Given the description of an element on the screen output the (x, y) to click on. 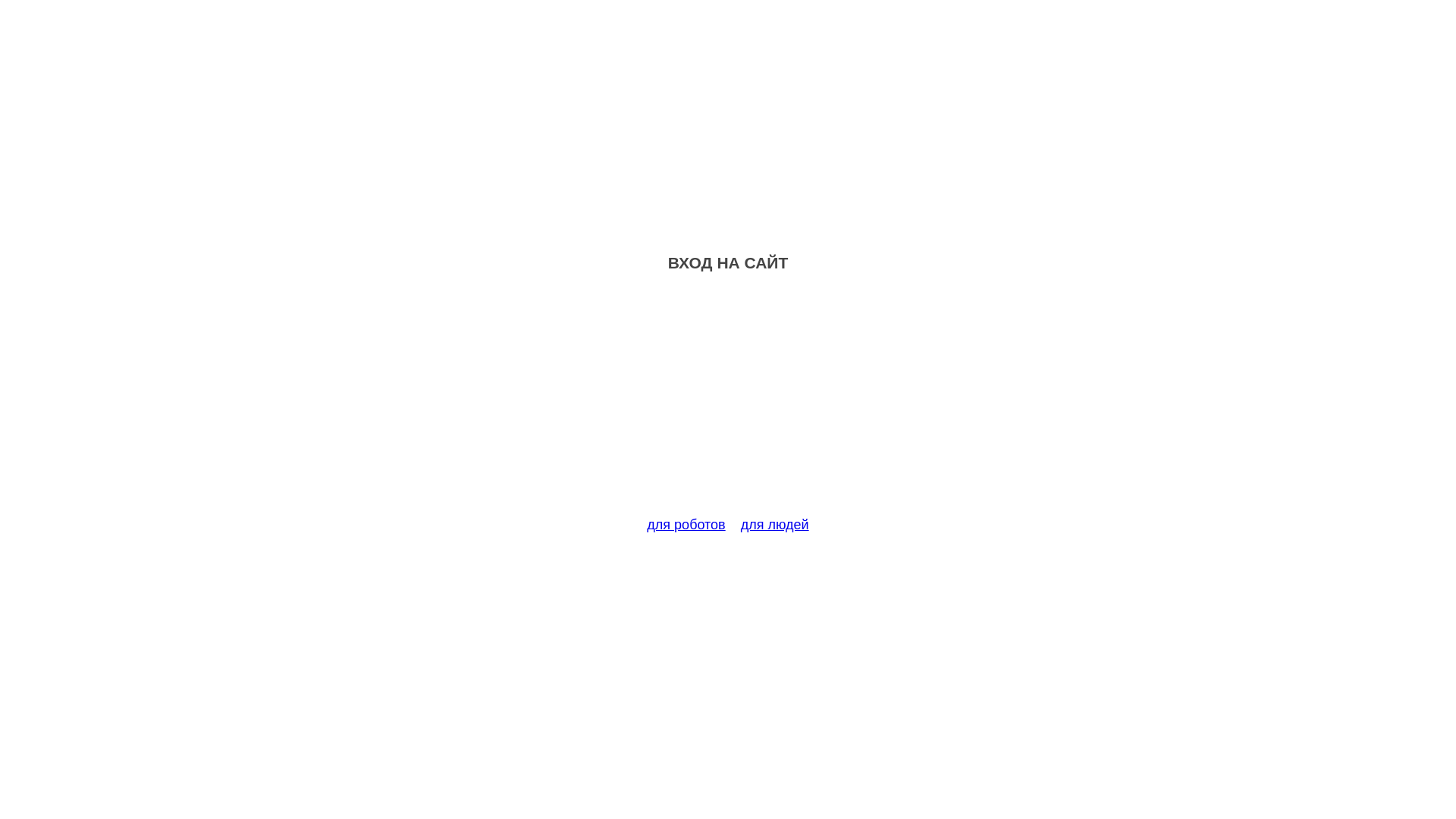
Advertisement Element type: hover (727, 403)
